Given the description of an element on the screen output the (x, y) to click on. 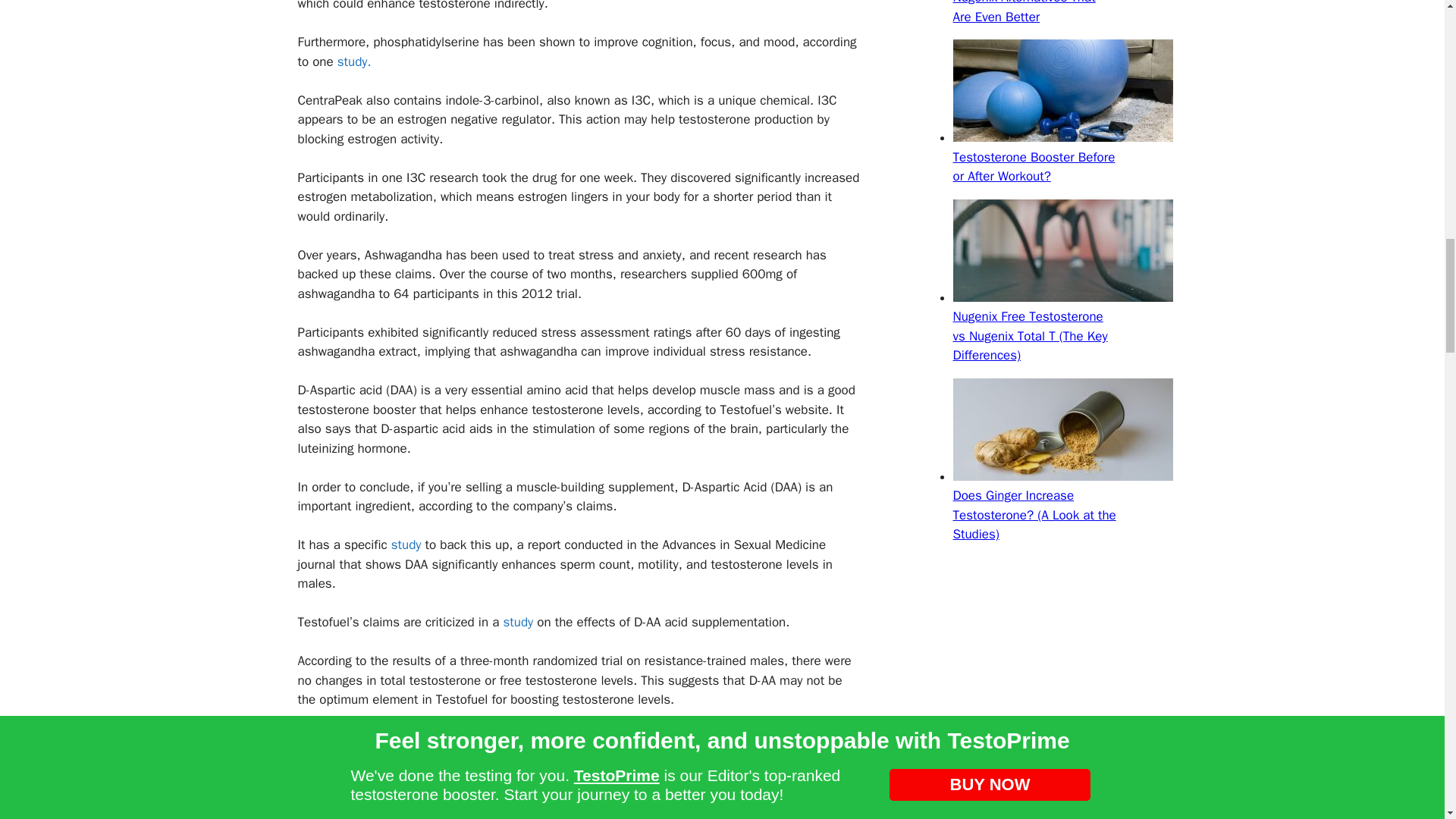
study. (354, 61)
study (406, 544)
study (517, 621)
